Given the description of an element on the screen output the (x, y) to click on. 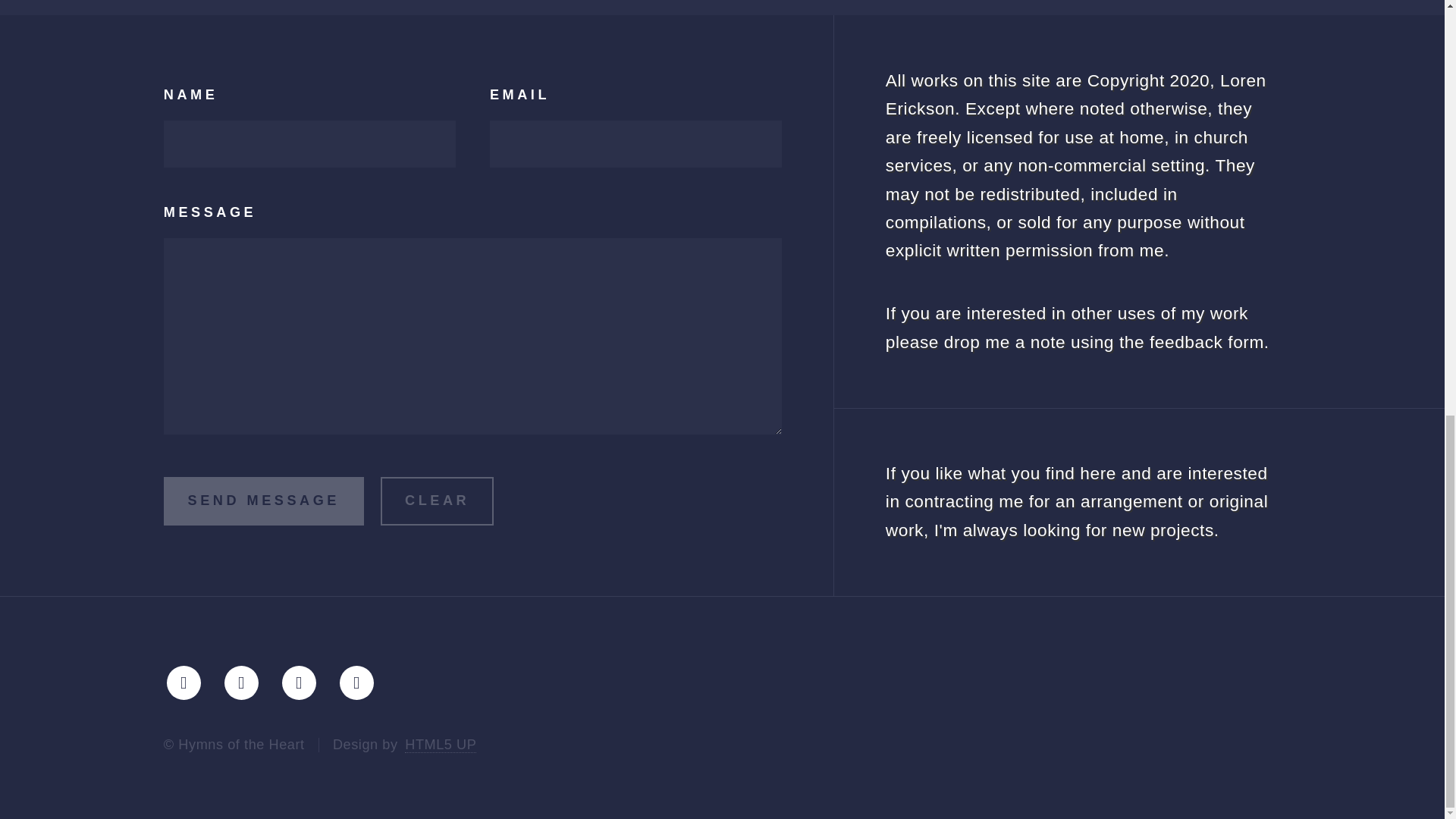
Send Message (263, 500)
Send Message (263, 500)
HTML5 UP (440, 744)
Clear (436, 500)
